Given the description of an element on the screen output the (x, y) to click on. 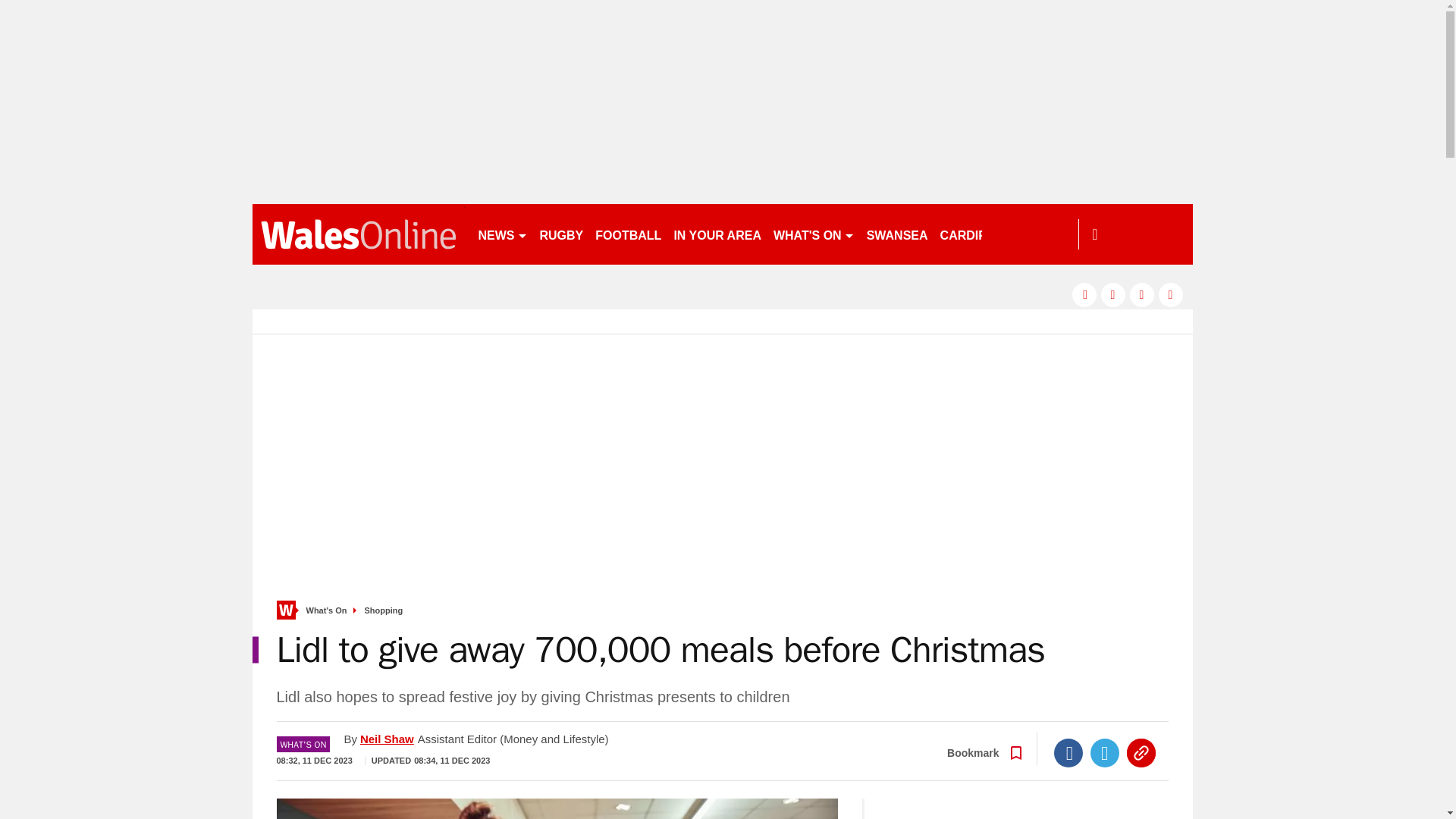
instagram (1170, 294)
WHAT'S ON (813, 233)
Facebook (1068, 752)
FOOTBALL (627, 233)
twitter (1112, 294)
facebook (1083, 294)
Twitter (1104, 752)
walesonline (357, 233)
IN YOUR AREA (716, 233)
NEWS (501, 233)
pinterest (1141, 294)
SWANSEA (897, 233)
RUGBY (561, 233)
